Given the description of an element on the screen output the (x, y) to click on. 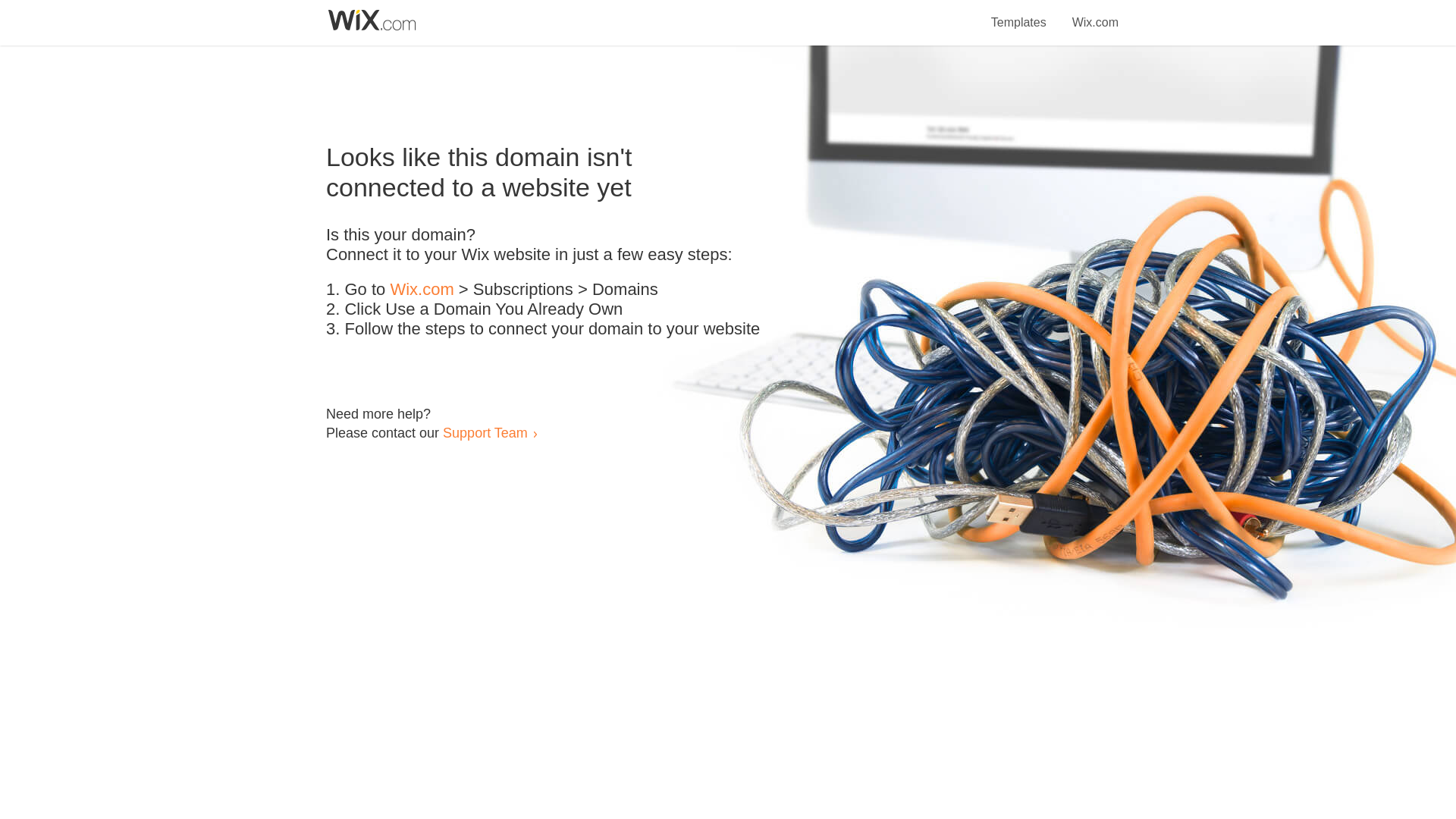
Wix.com (421, 289)
Support Team (484, 432)
Templates (1018, 14)
Wix.com (1095, 14)
